Given the description of an element on the screen output the (x, y) to click on. 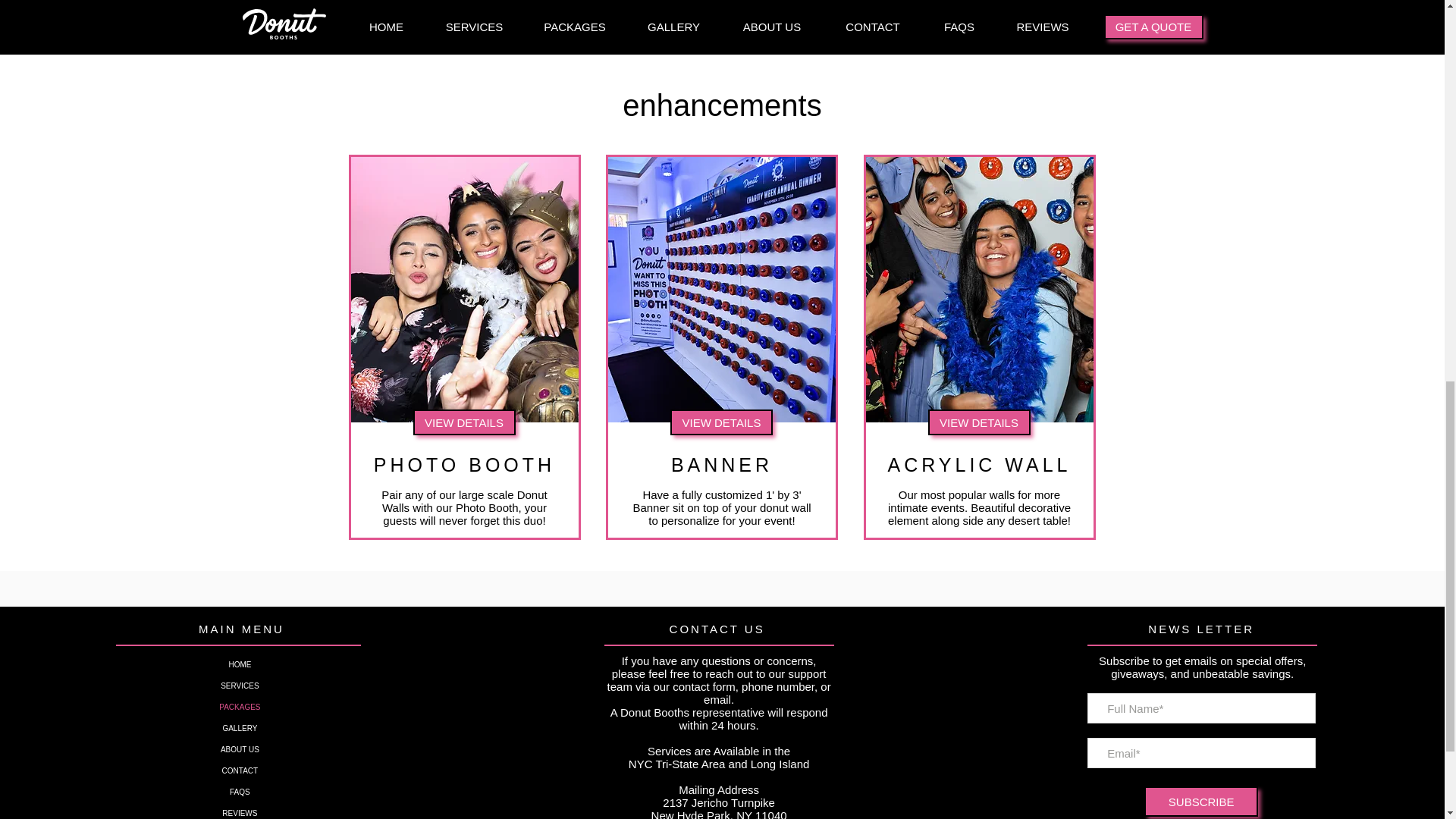
FAQS (239, 792)
HOME (239, 664)
SUBSCRIBE (1200, 801)
VIEW DETAILS (463, 421)
GALLERY (239, 728)
CONTACT (239, 771)
REVIEWS (239, 811)
ABOUT US (239, 749)
SERVICES (239, 685)
